Given the description of an element on the screen output the (x, y) to click on. 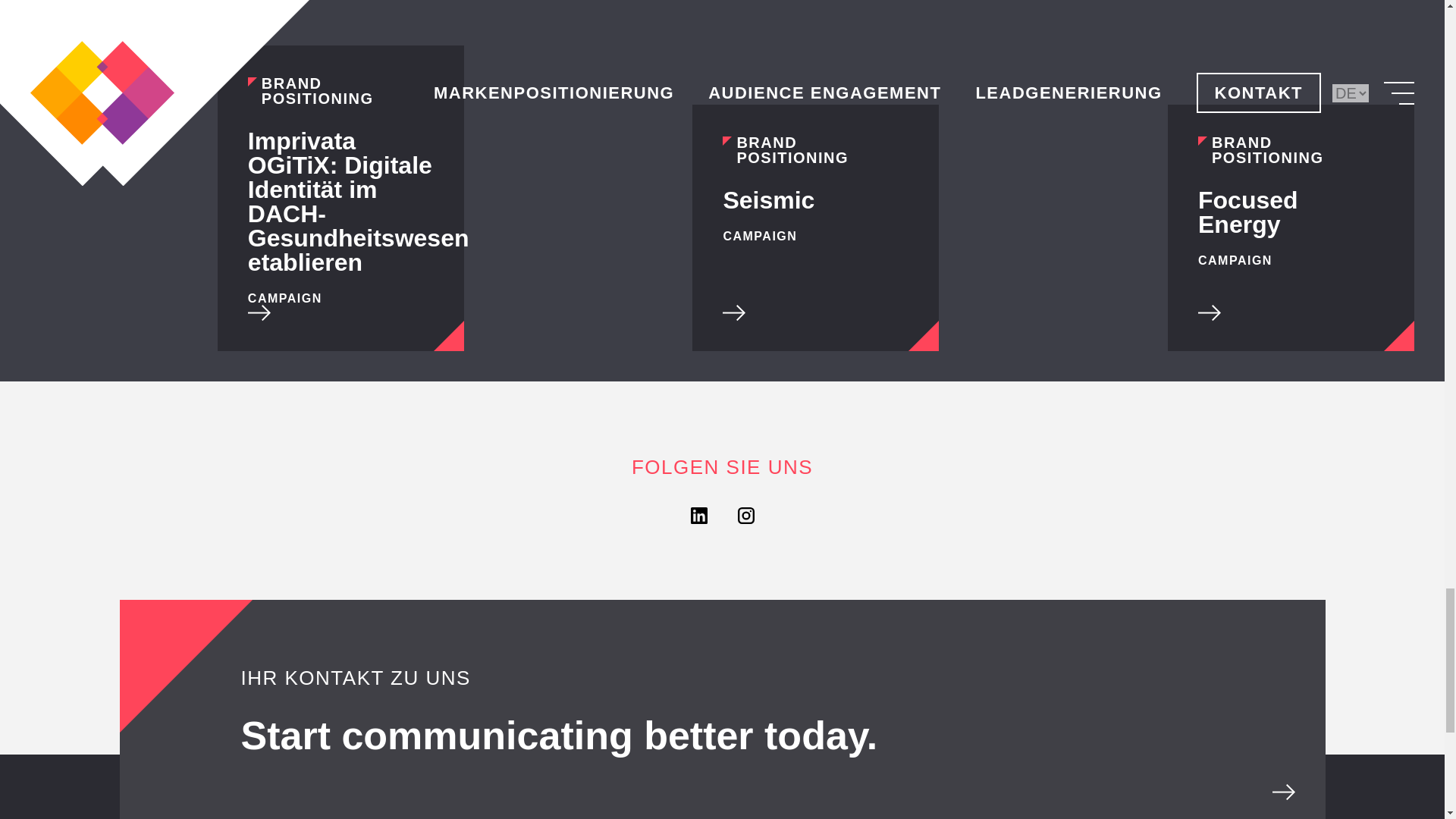
BRAND POSITIONING (815, 150)
CAMPAIGN (284, 298)
BRAND POSITIONING (340, 91)
Seismic (767, 199)
CAMPAIGN (759, 236)
